Given the description of an element on the screen output the (x, y) to click on. 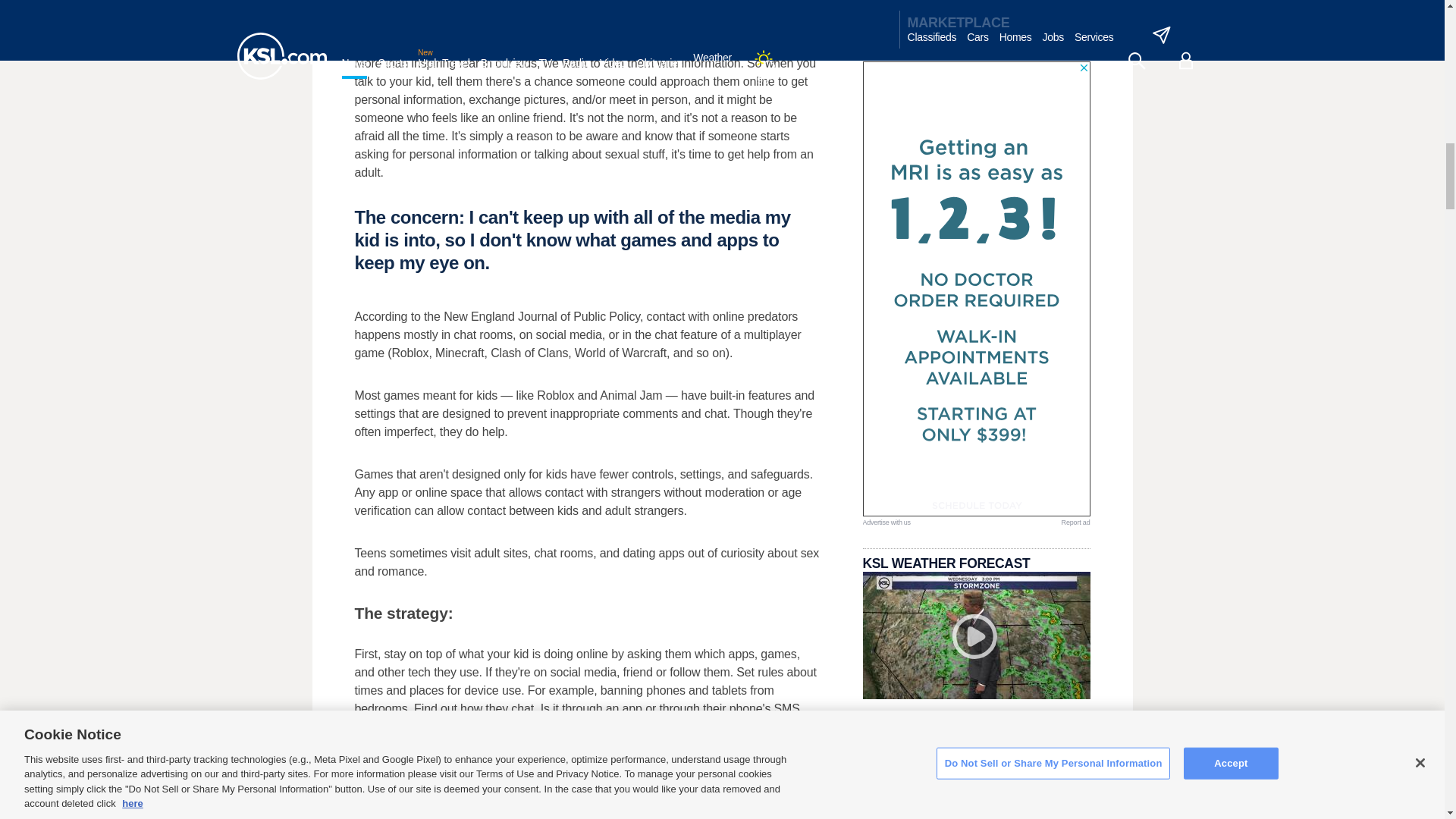
3rd party ad content (976, 288)
